Given the description of an element on the screen output the (x, y) to click on. 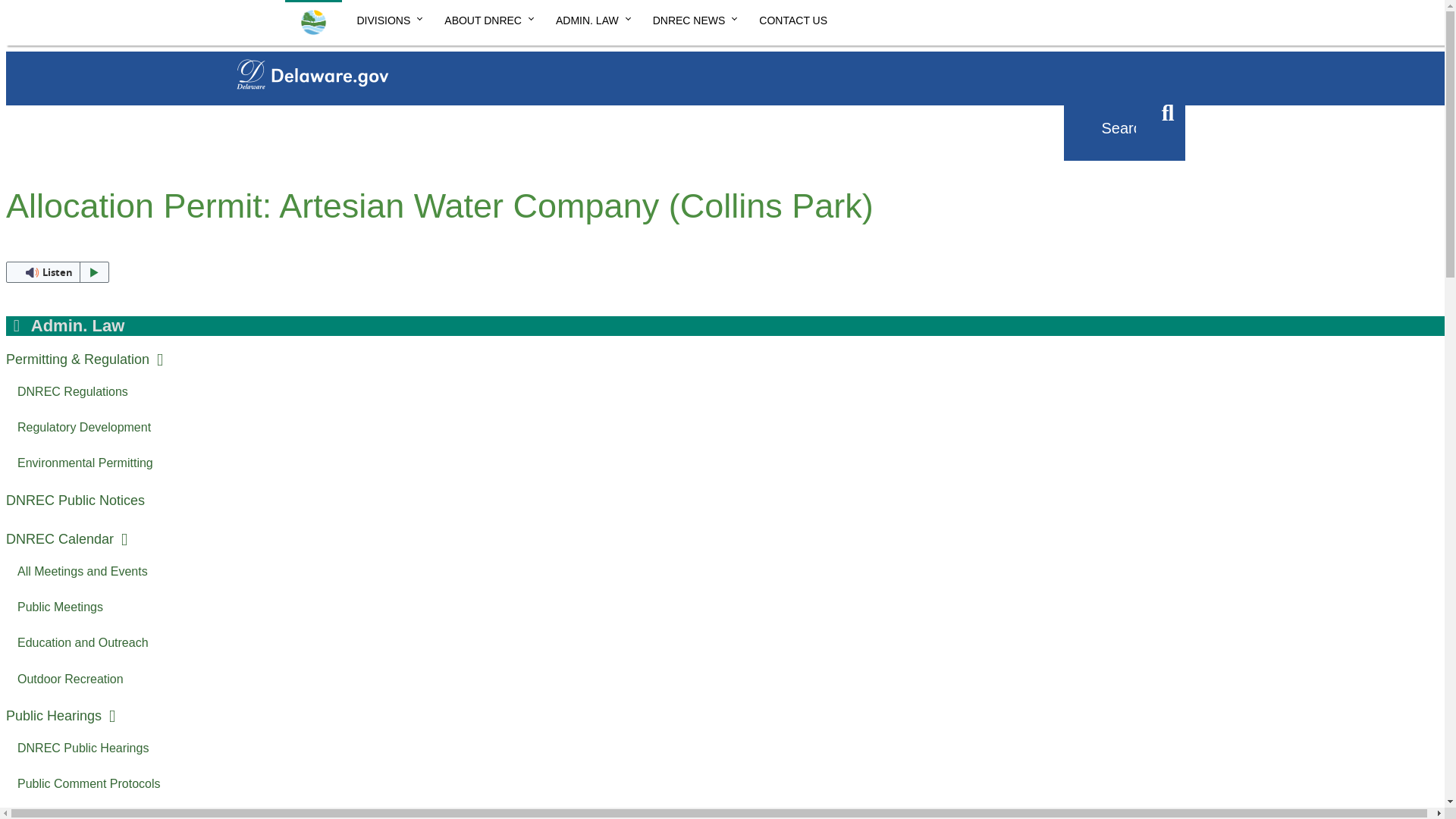
Topics (453, 111)
DIVISIONS (384, 18)
News (381, 111)
Agencies (300, 111)
ABOUT DNREC (484, 18)
Submit (1168, 114)
Contact (532, 111)
ADMIN. LAW (588, 18)
Listen to this page using ReadSpeaker (57, 271)
